Given the description of an element on the screen output the (x, y) to click on. 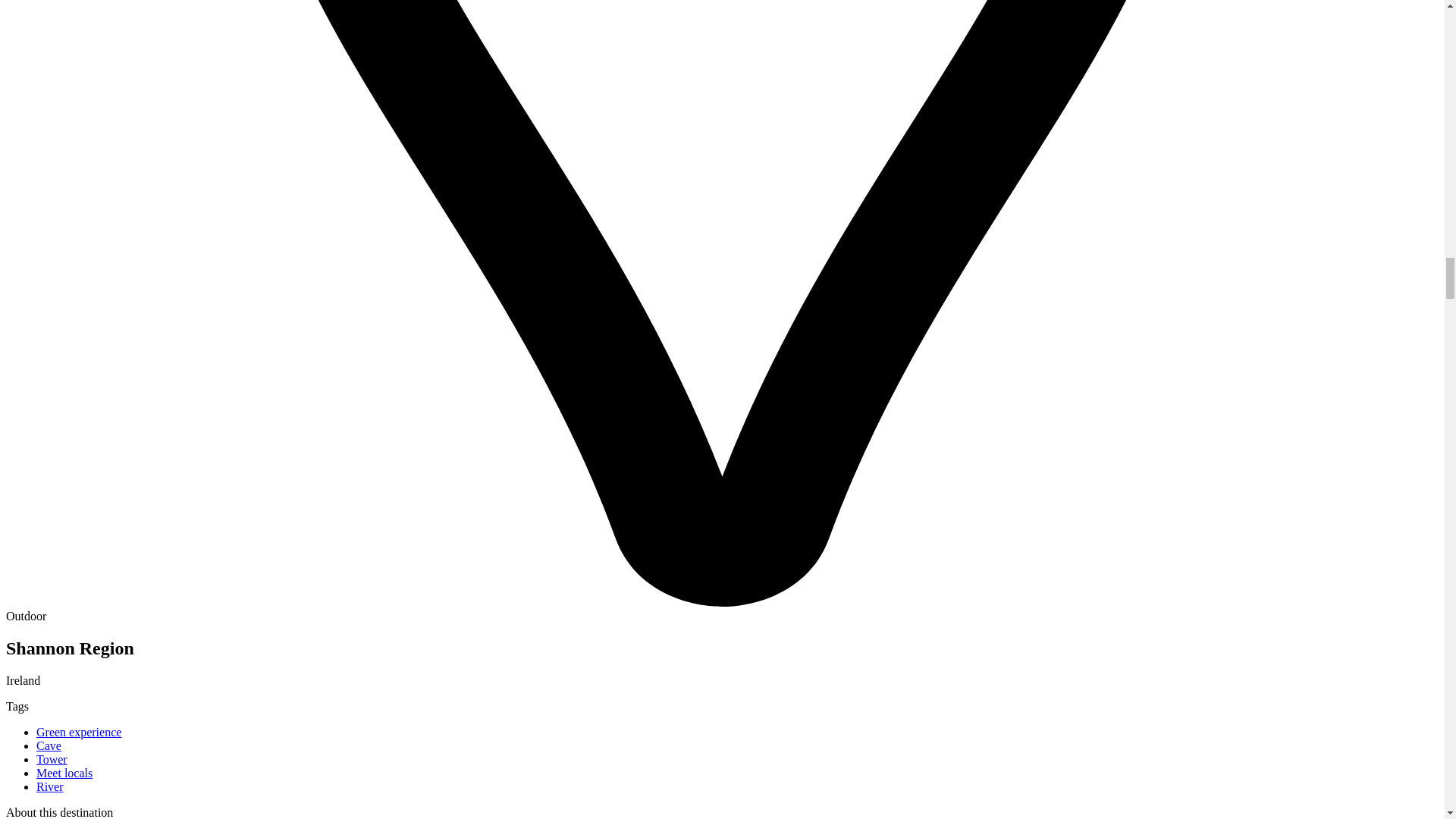
Tower (51, 758)
Meet locals (64, 772)
River (50, 786)
Green experience (78, 731)
Cave (48, 745)
